Given the description of an element on the screen output the (x, y) to click on. 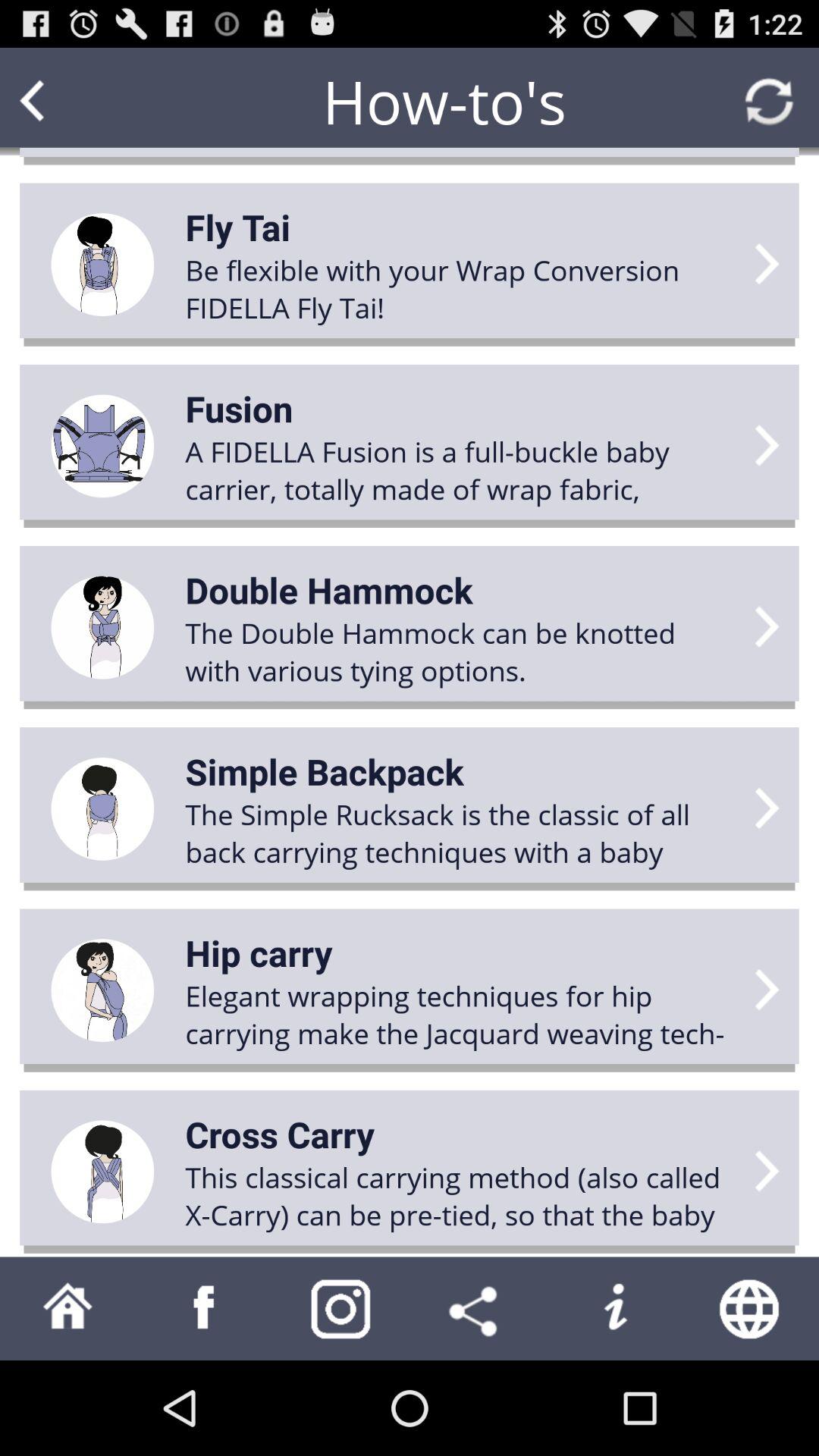
go to information page (614, 1308)
